Given the description of an element on the screen output the (x, y) to click on. 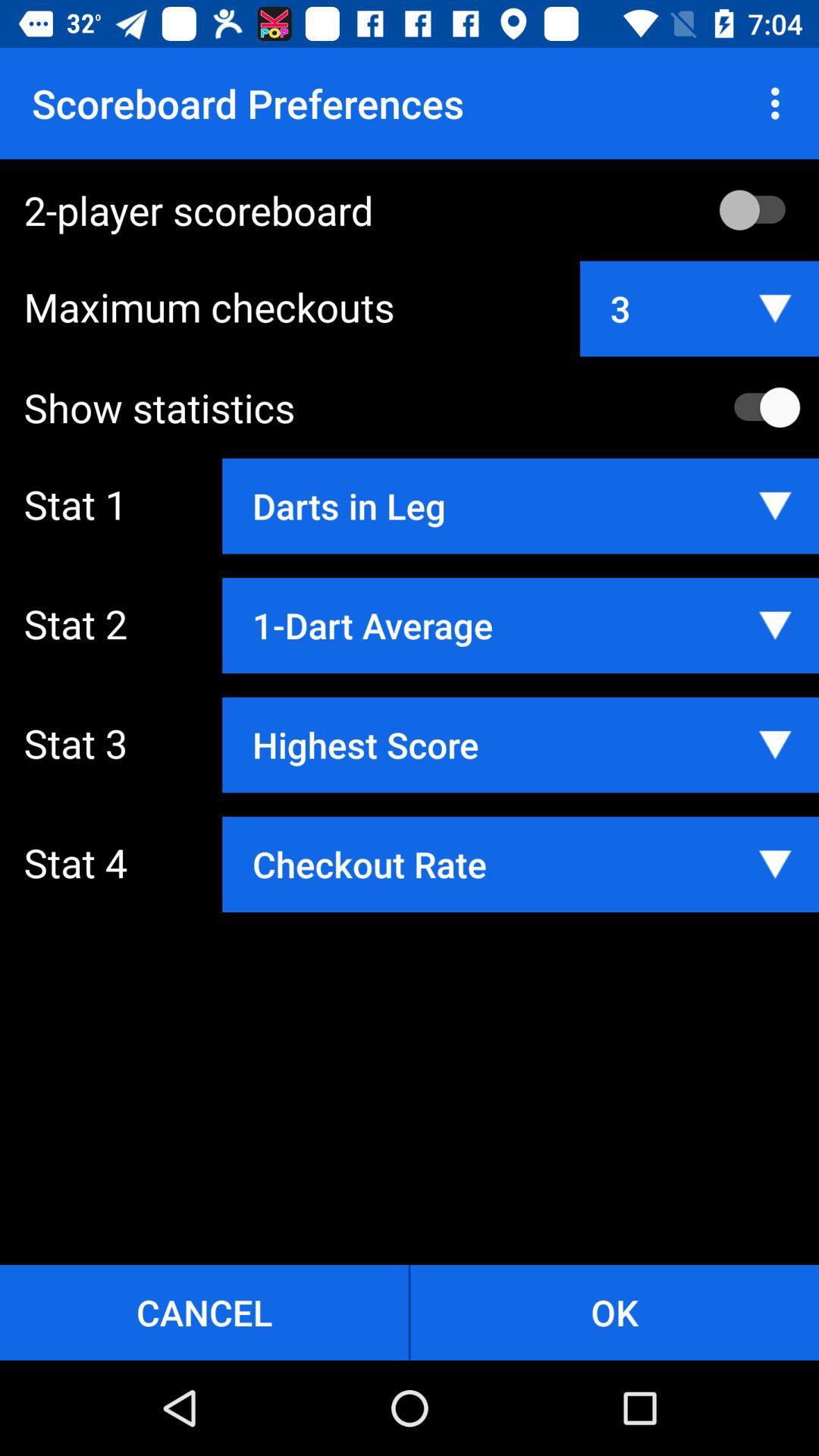
turn off the app to the right of the scoreboard preferences (779, 103)
